Given the description of an element on the screen output the (x, y) to click on. 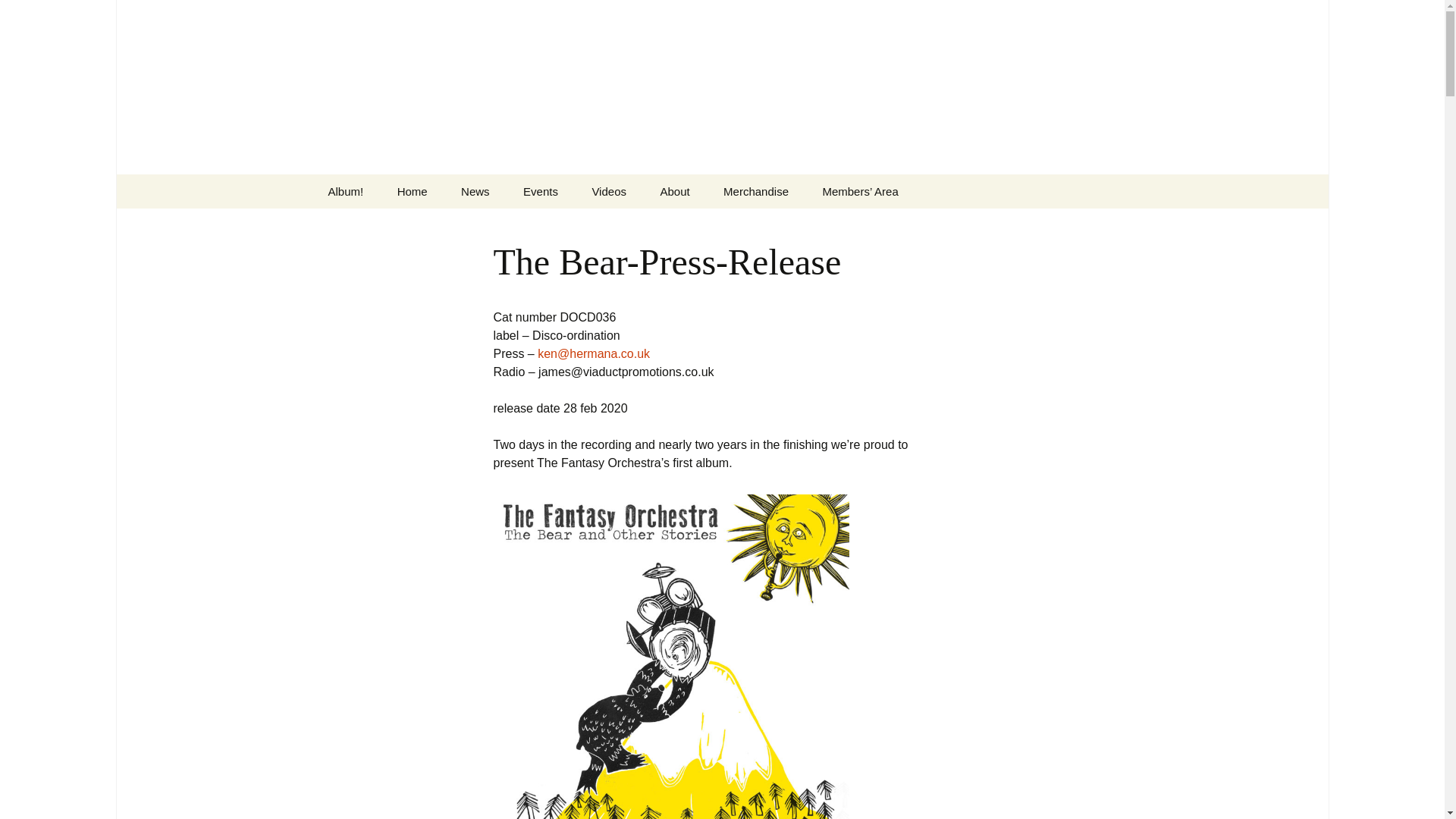
Home (411, 191)
About The Orcchestra (720, 225)
Search (34, 15)
Album! (345, 191)
Search (18, 15)
Upcoming Events (583, 225)
Videos (609, 191)
Events (540, 191)
Album (783, 225)
News (475, 191)
Merchandise (755, 191)
About (674, 191)
